Given the description of an element on the screen output the (x, y) to click on. 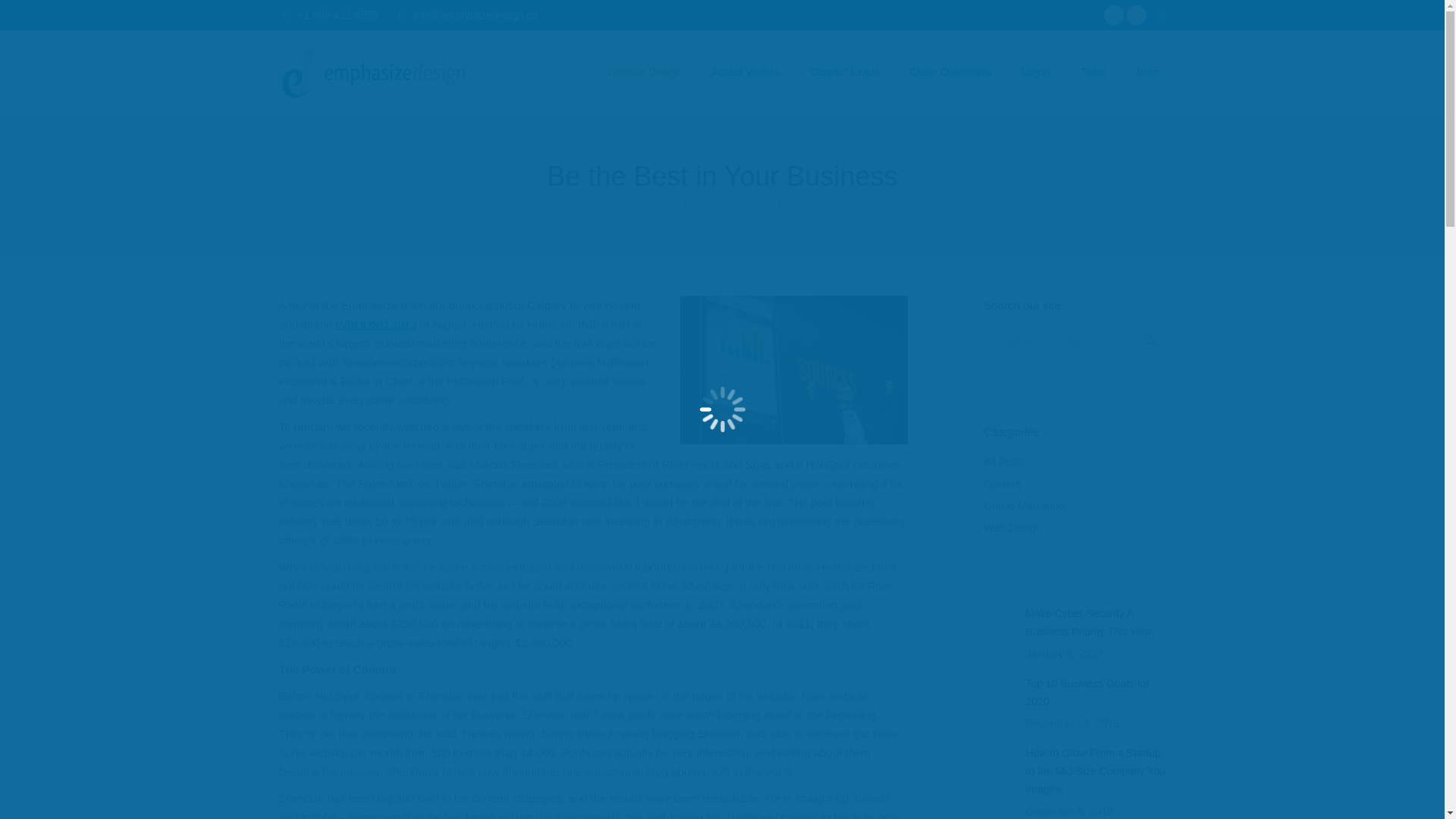
Converting Qualified Leads (844, 71)
Close Customers (950, 71)
X page opens in new window (1136, 14)
Attracting Quality Visitors (745, 71)
Facebook page opens in new window (1113, 14)
X page opens in new window (1136, 14)
Go! (1141, 339)
Logos (1035, 71)
Convert Leads (844, 71)
Facebook page opens in new window (1113, 14)
Go! (24, 16)
Go! (1141, 339)
Blog (1147, 71)
Calgary Website Design Services (643, 71)
Team (1093, 71)
